Given the description of an element on the screen output the (x, y) to click on. 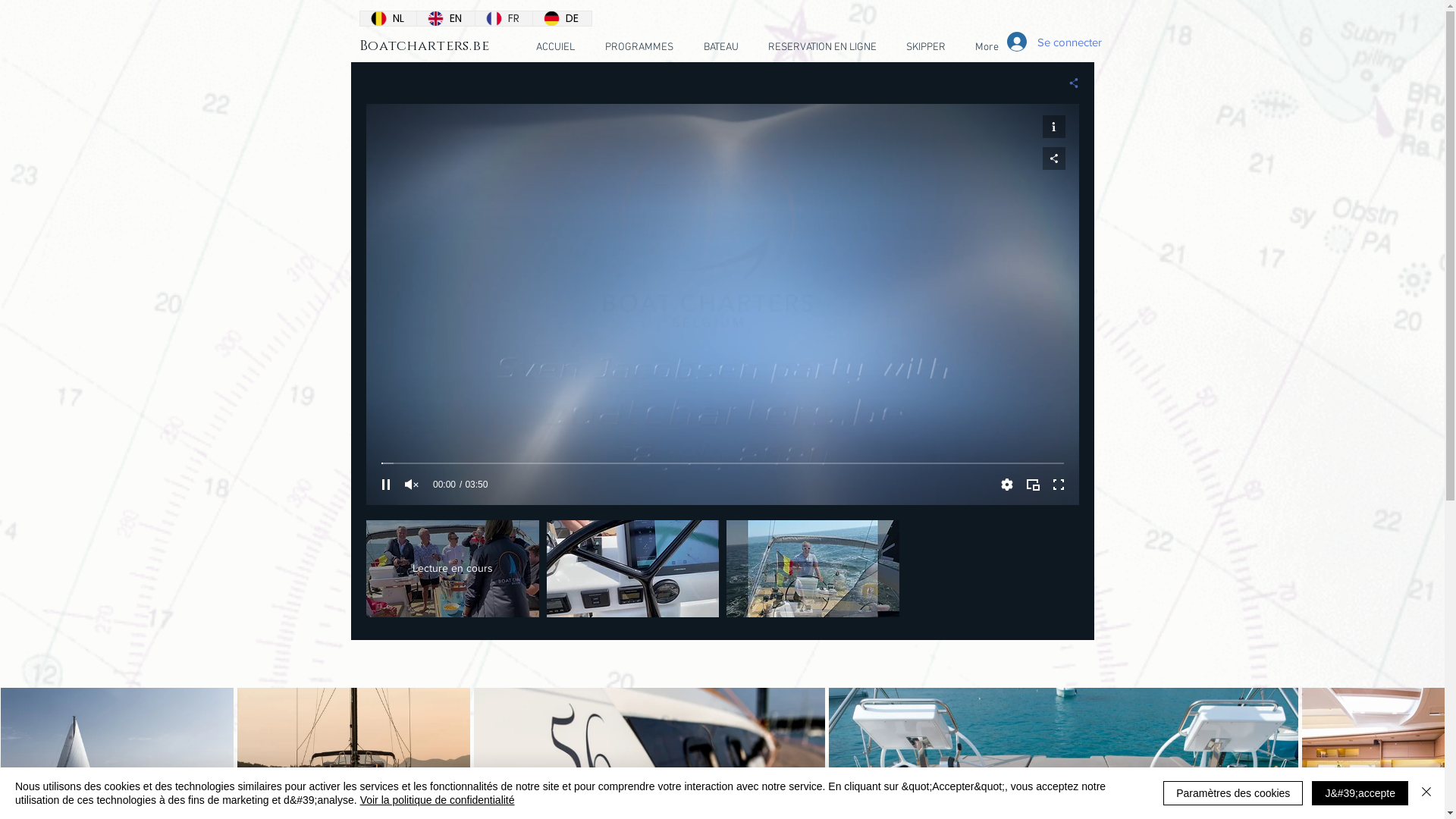
PROGRAMMES Element type: text (638, 47)
ACCUIEL Element type: text (554, 47)
SKIPPER Element type: text (925, 47)
NL Element type: text (387, 18)
RESERVATION EN LIGNE Element type: text (822, 47)
FR Element type: text (503, 18)
EN Element type: text (445, 18)
BATEAU Element type: text (720, 47)
Se connecter Element type: text (1041, 41)
J&#39;accepte Element type: text (1359, 793)
DE Element type: text (561, 18)
